Given the description of an element on the screen output the (x, y) to click on. 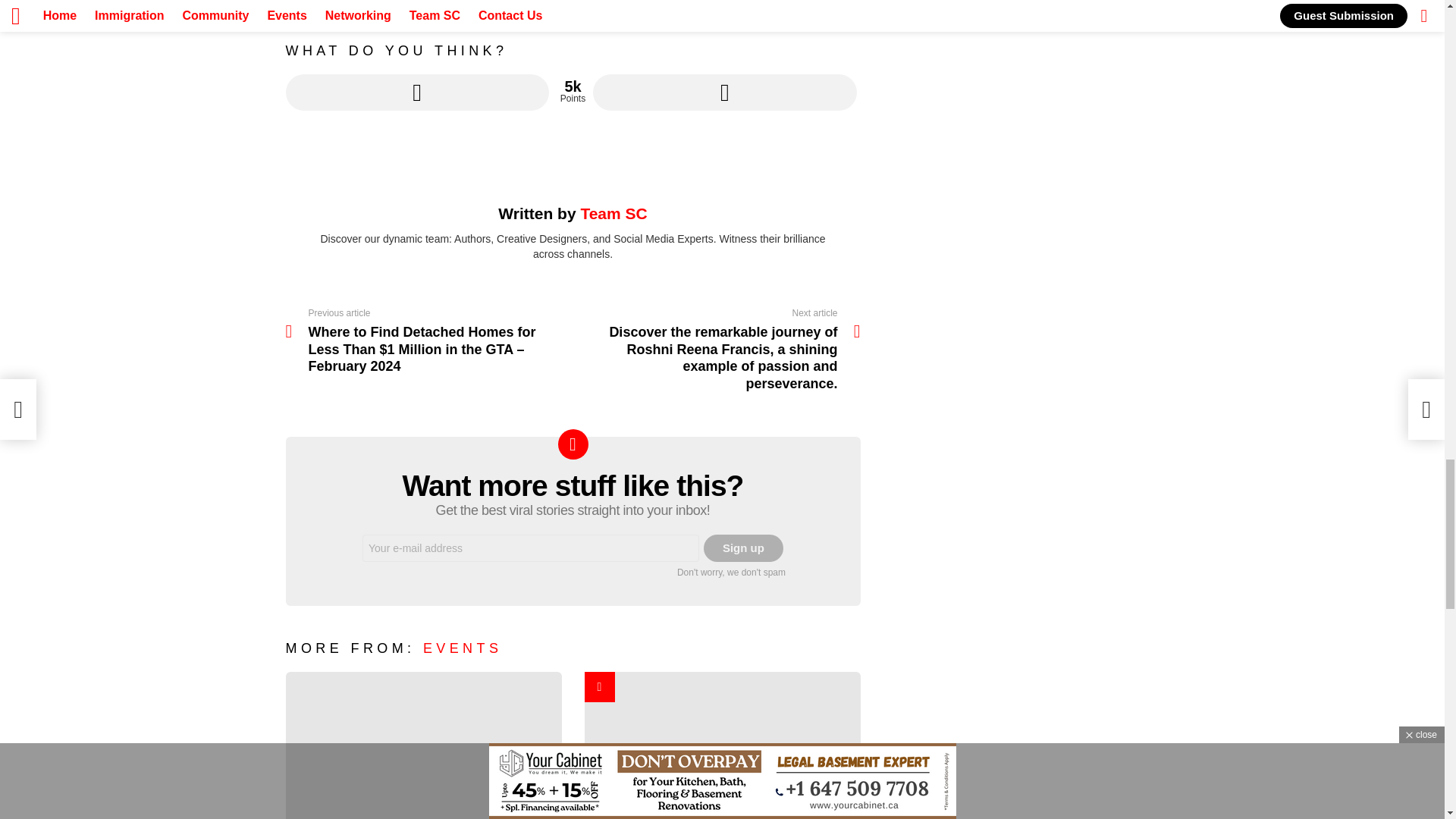
Sign up (743, 547)
